Given the description of an element on the screen output the (x, y) to click on. 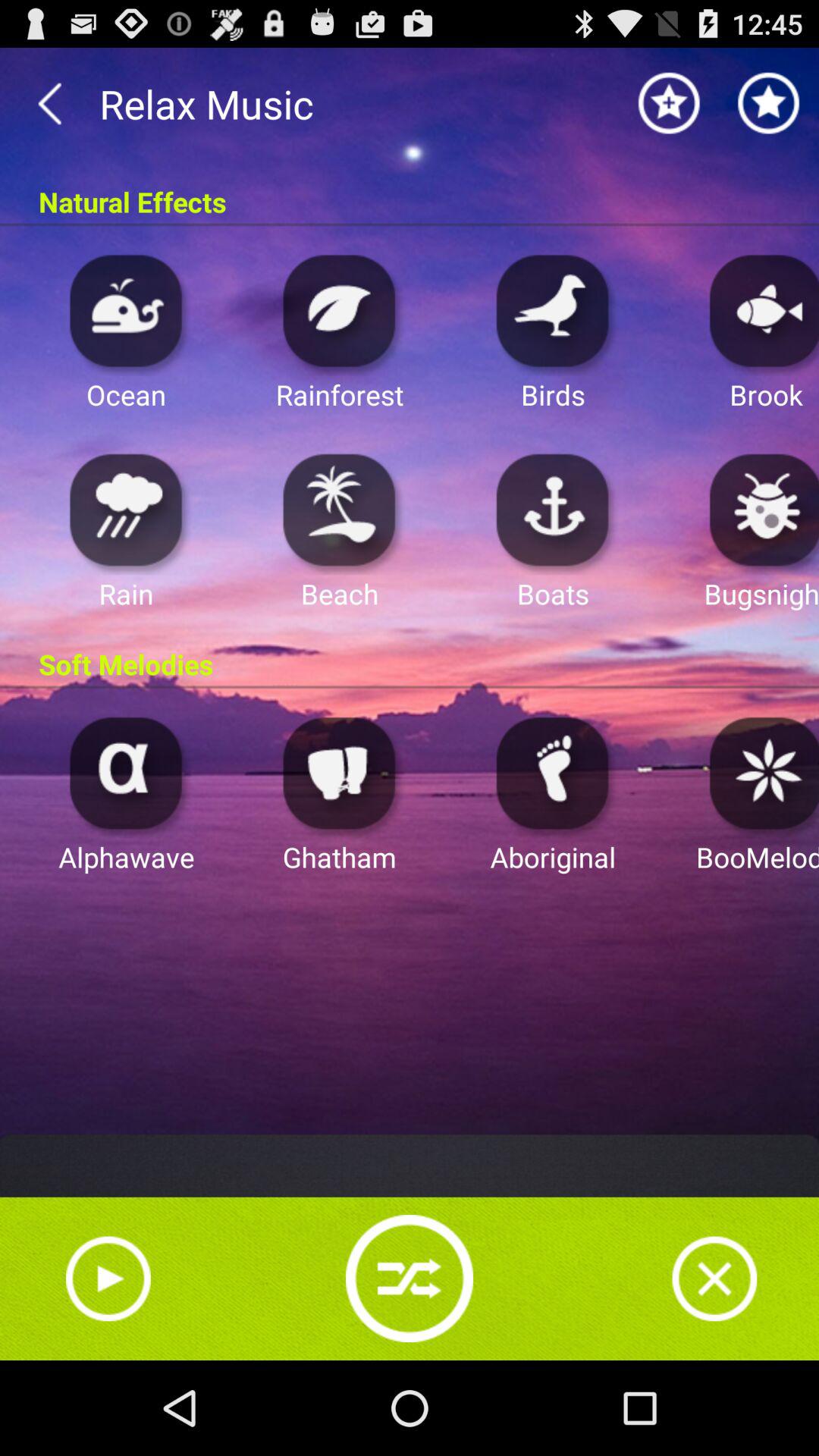
turns on a natural effects setting (339, 309)
